Given the description of an element on the screen output the (x, y) to click on. 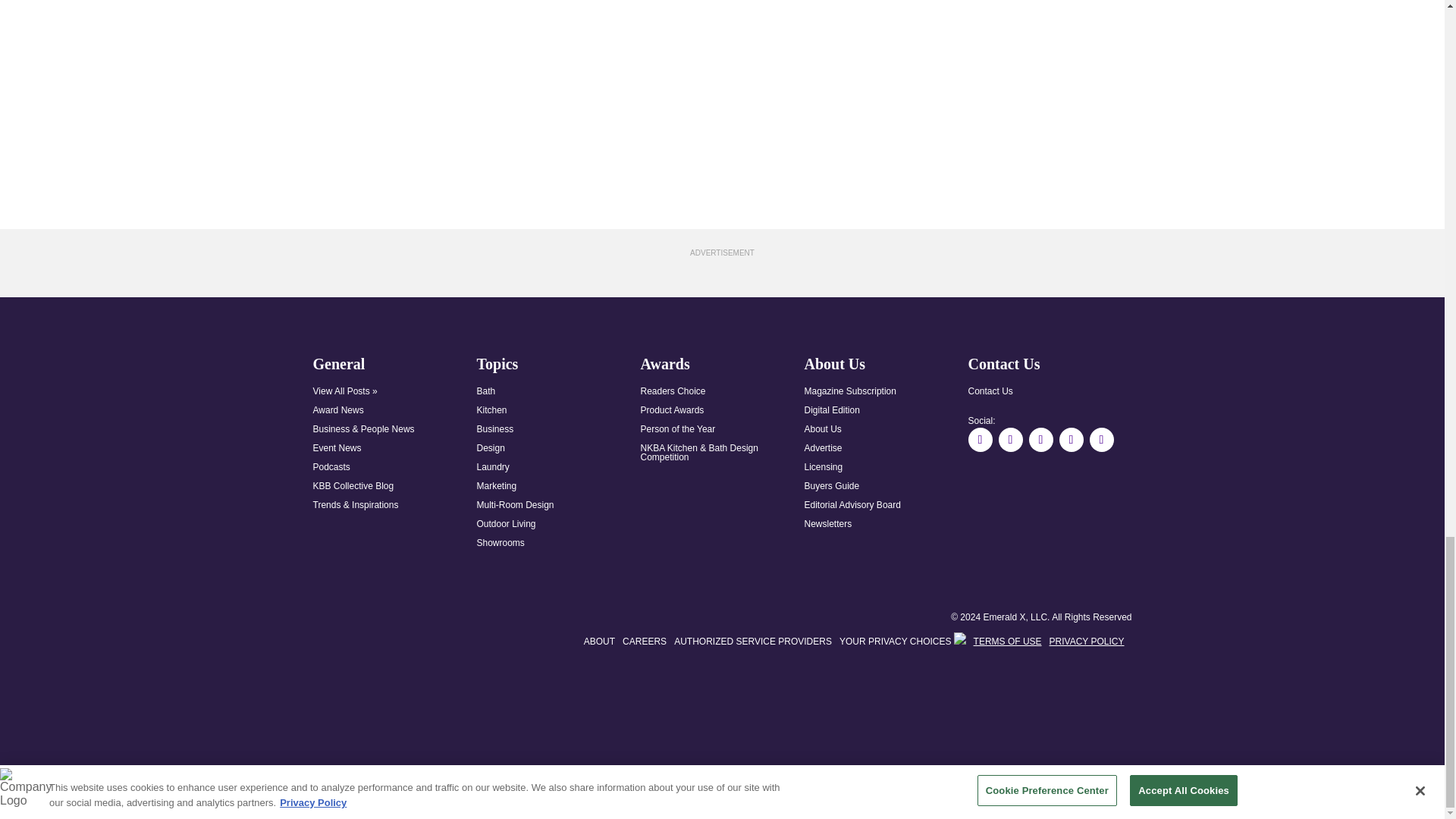
Follow on Facebook (979, 439)
